Given the description of an element on the screen output the (x, y) to click on. 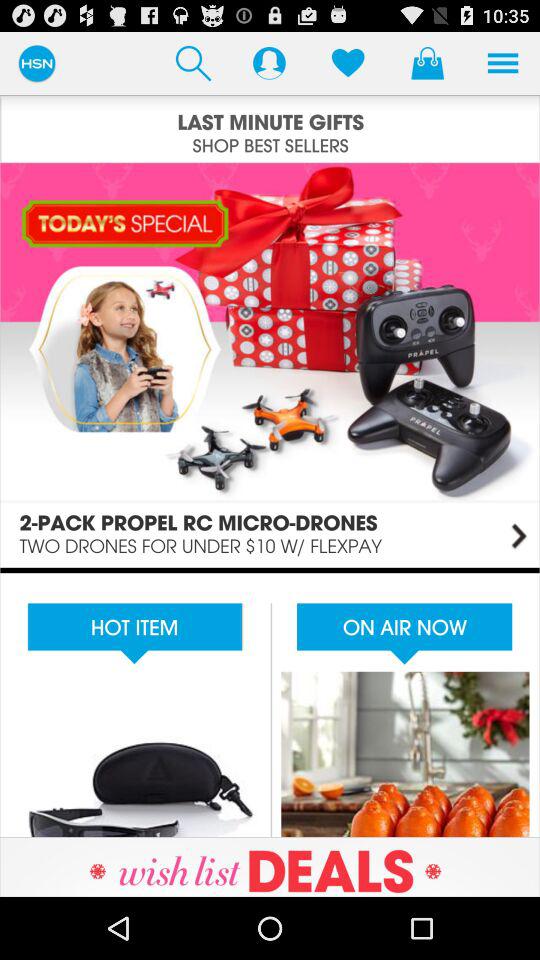
visit advertisement site (269, 866)
